Given the description of an element on the screen output the (x, y) to click on. 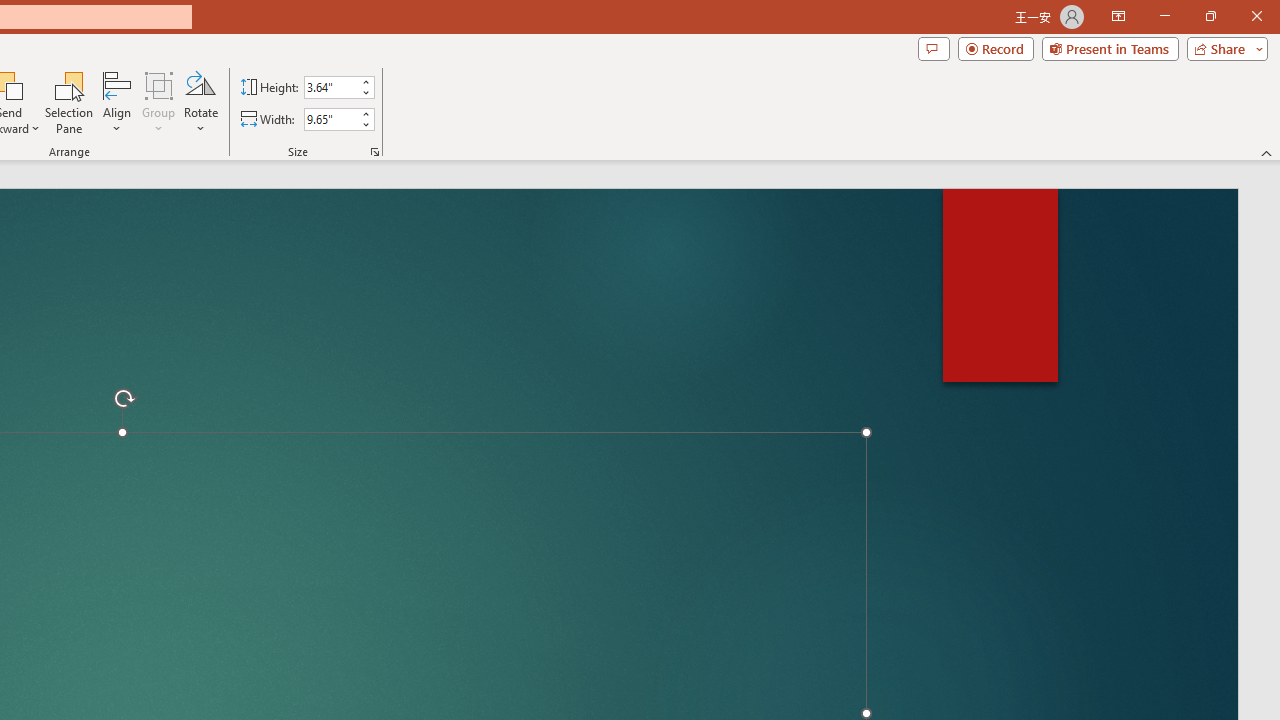
Selection Pane... (69, 102)
Align (117, 102)
More (365, 113)
Minimize (1164, 16)
Comments (933, 48)
Shape Width (330, 119)
Share (1223, 48)
Record (995, 48)
Less (365, 124)
Size and Position... (374, 151)
Shape Height (330, 87)
Collapse the Ribbon (1267, 152)
Present in Teams (1109, 48)
Ribbon Display Options (1118, 16)
